Given the description of an element on the screen output the (x, y) to click on. 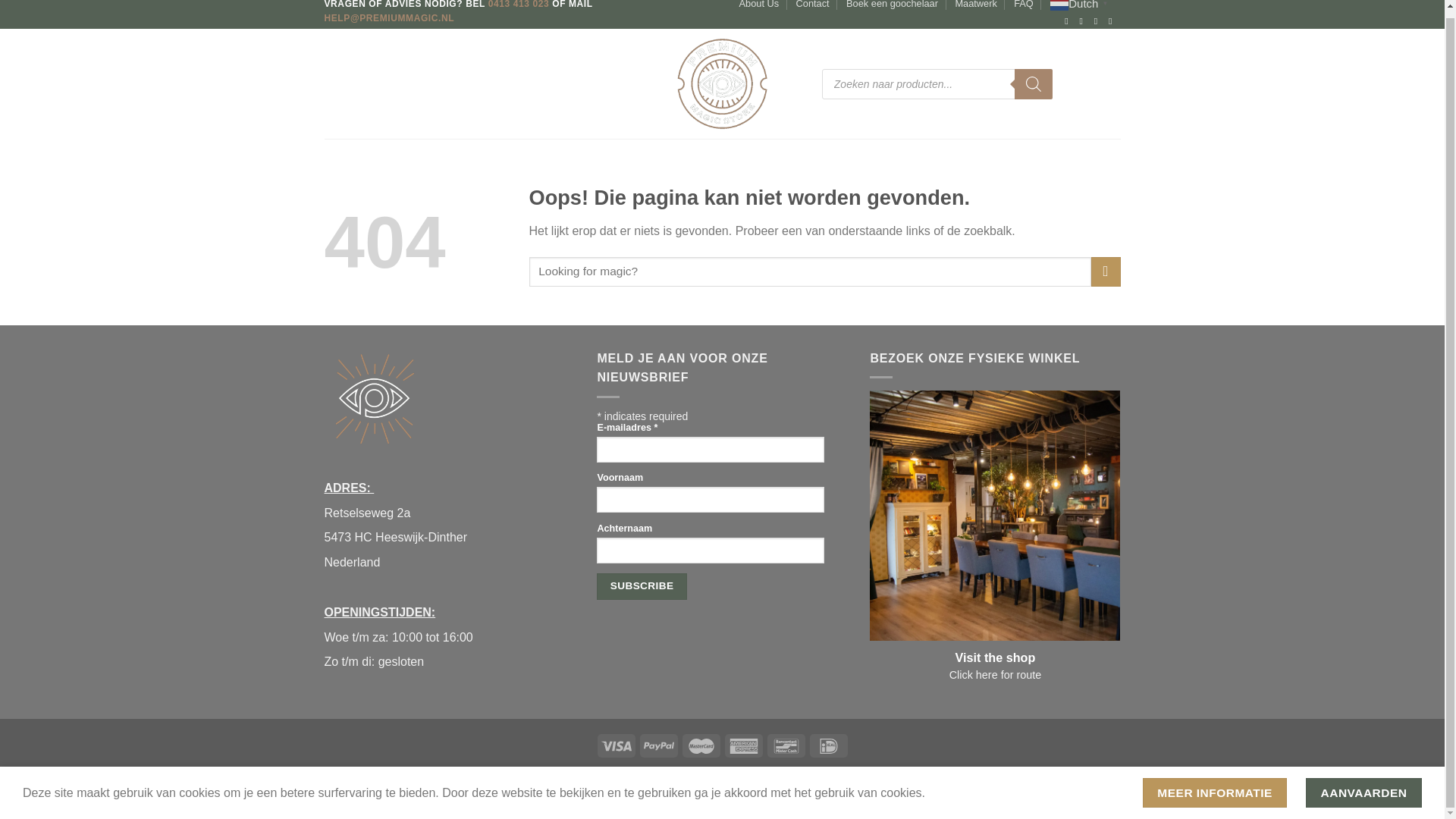
Stuur ons een e-mail (1098, 20)
Boek een goochelaar (891, 6)
The Premium Magic Store - More than just a magic shop (722, 83)
HOME (338, 83)
About Us (758, 6)
Volg ons op Facebook (1069, 20)
Maatwerk (975, 6)
Volg ons op Instagram (1084, 20)
Subscribe (640, 586)
Contact (812, 6)
FAQ (1023, 6)
0413 413 023 (518, 4)
Winkelwagen (1113, 83)
PRODUCTS (396, 83)
Volg ons op YouTube (1113, 20)
